Given the description of an element on the screen output the (x, y) to click on. 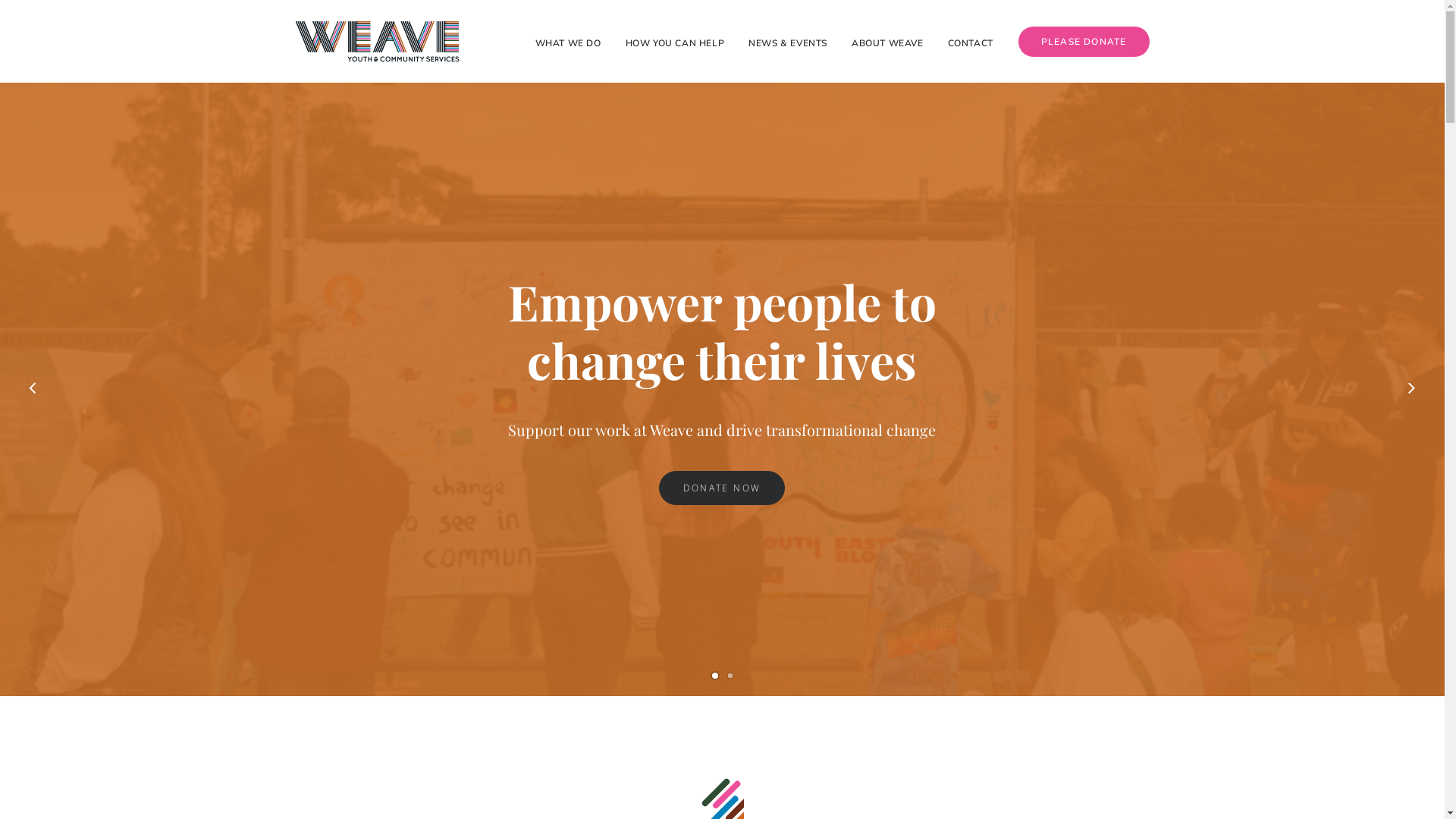
DONATE NOW Element type: text (721, 487)
CONTACT Element type: text (970, 41)
WHAT WE DO Element type: text (573, 41)
NEWS & EVENTS Element type: text (787, 41)
ABOUT WEAVE Element type: text (887, 41)
HOW YOU CAN HELP Element type: text (675, 41)
PLEASE DONATE Element type: text (1078, 41)
